Given the description of an element on the screen output the (x, y) to click on. 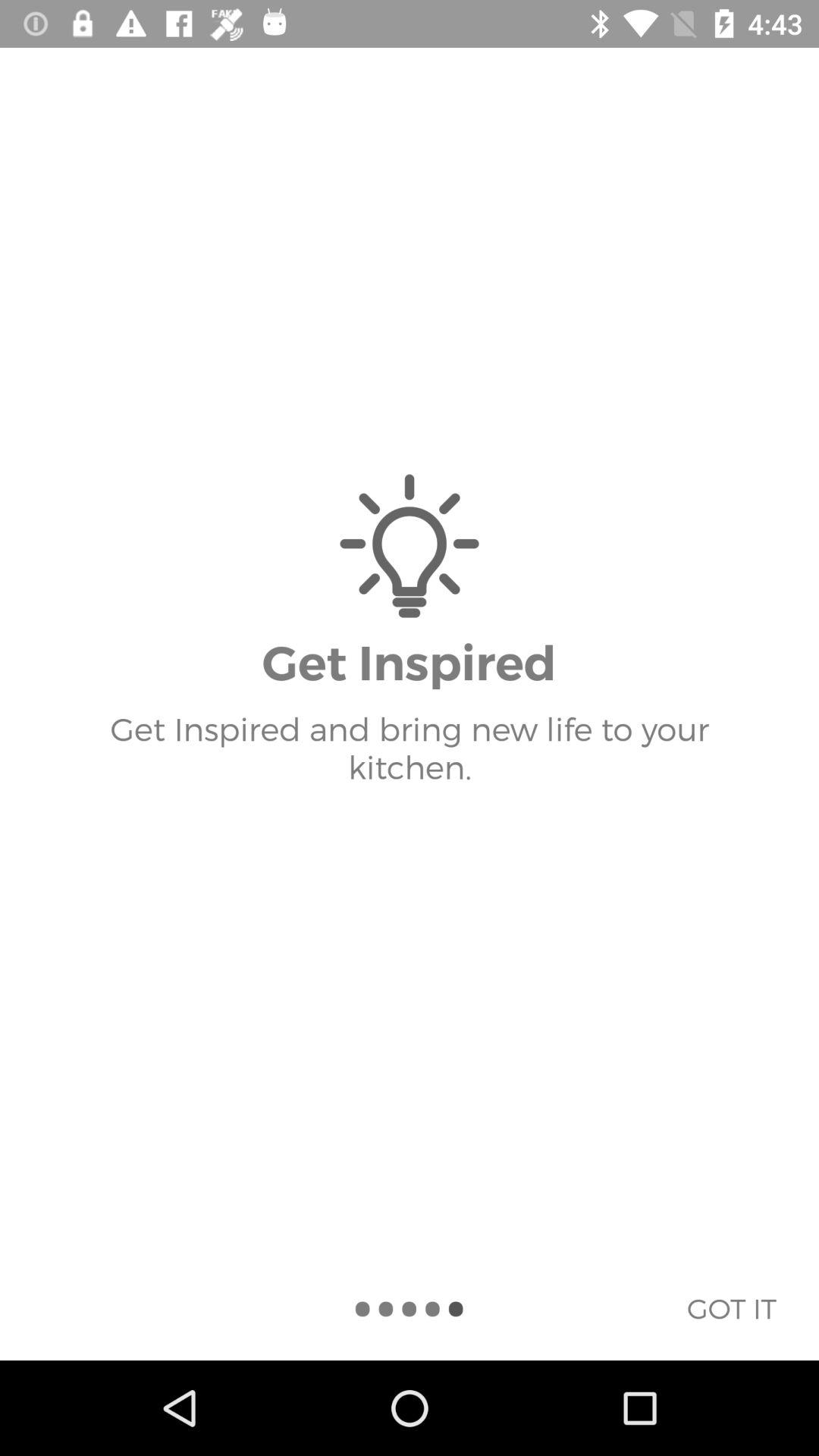
open the got it item (731, 1308)
